Given the description of an element on the screen output the (x, y) to click on. 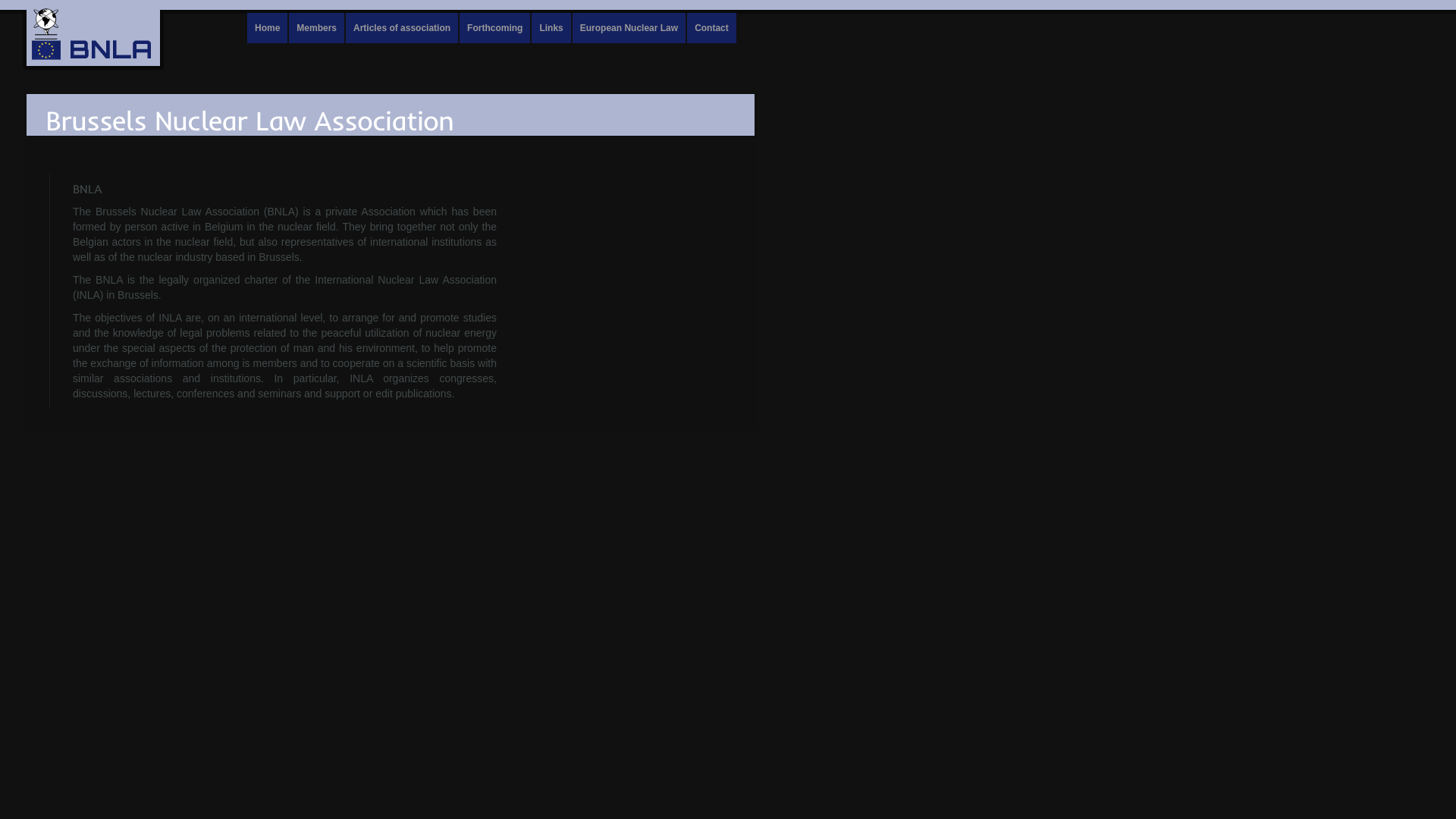
Articles of association Element type: text (401, 27)
Forthcoming Element type: text (494, 27)
European Nuclear Law Element type: text (628, 27)
Members Element type: text (316, 27)
Links Element type: text (550, 27)
Contact Element type: text (711, 27)
Home Element type: text (267, 27)
